Given the description of an element on the screen output the (x, y) to click on. 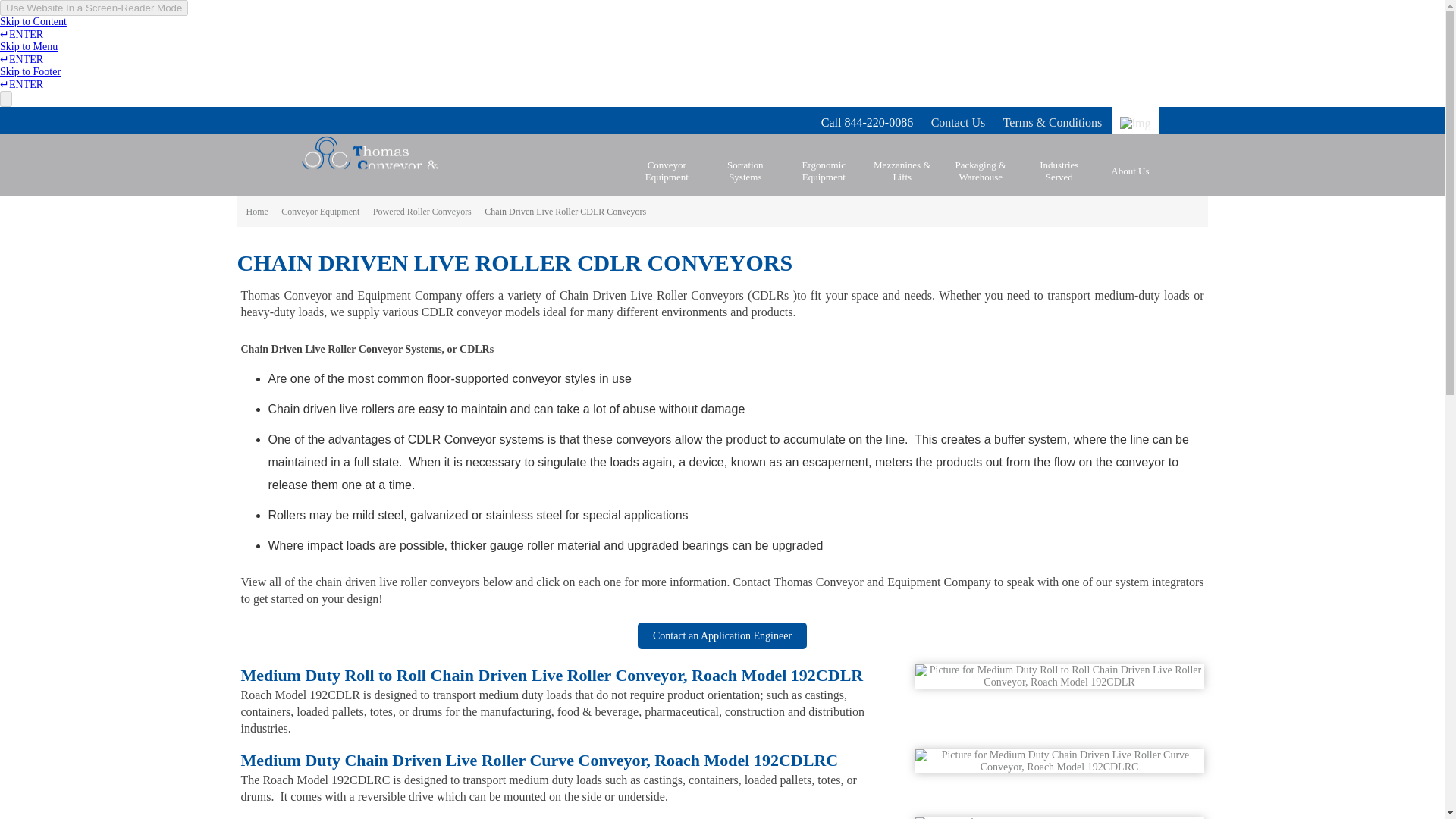
Contact Us (958, 122)
844-220-0086 (878, 122)
Conveyor Equipment (666, 170)
Powered Roller Conveyors (421, 211)
Conveyor Equipment (320, 211)
Home (256, 211)
Sortation Systems (745, 170)
